Given the description of an element on the screen output the (x, y) to click on. 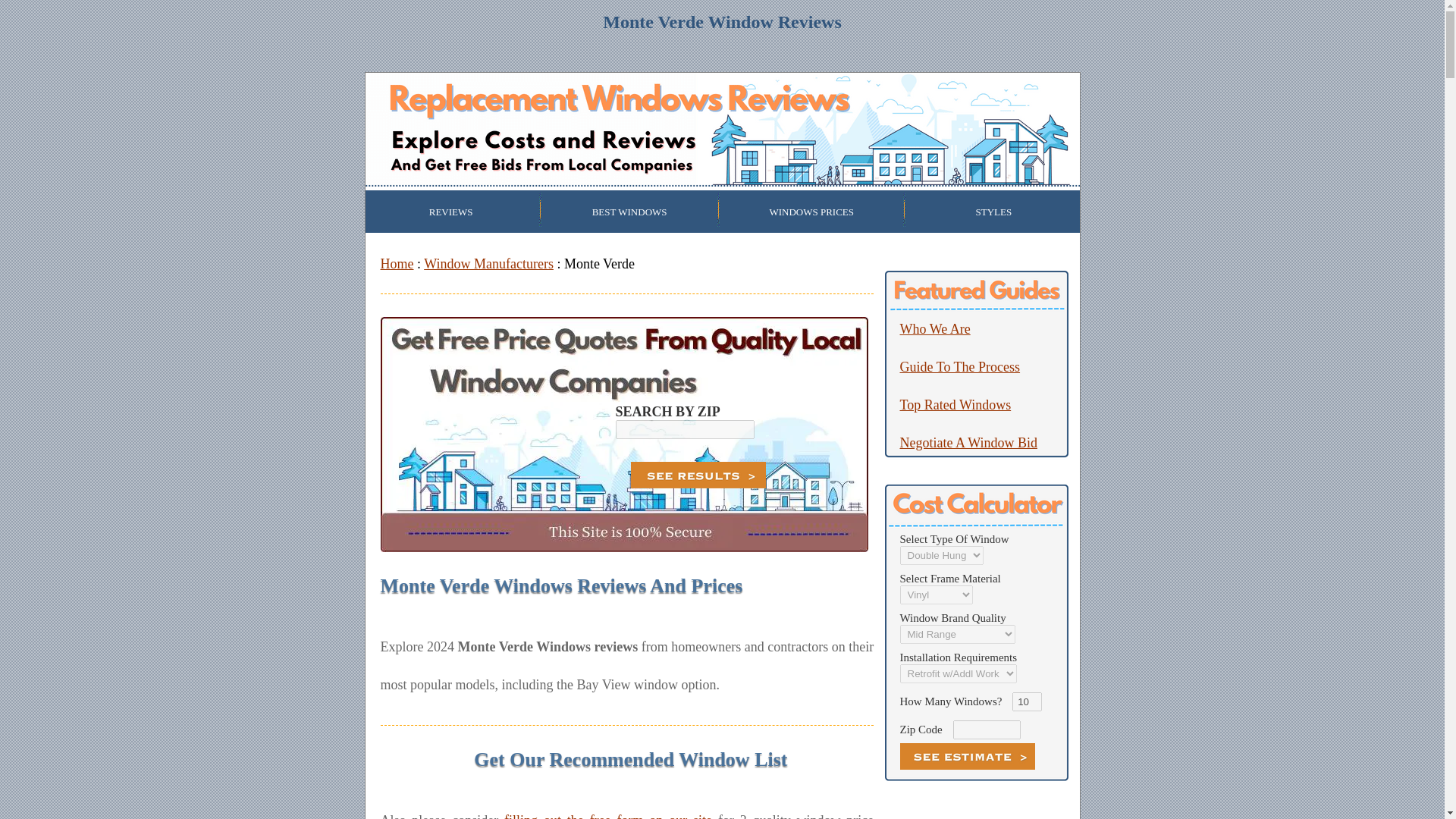
Home (396, 263)
BEST WINDOWS (629, 211)
REVIEWS (451, 211)
Top Rated Windows (954, 404)
Search (697, 474)
STYLES (993, 211)
Search (697, 474)
Guide To The Process (959, 366)
Button - See Estimates (966, 755)
Who We Are (934, 328)
